Given the description of an element on the screen output the (x, y) to click on. 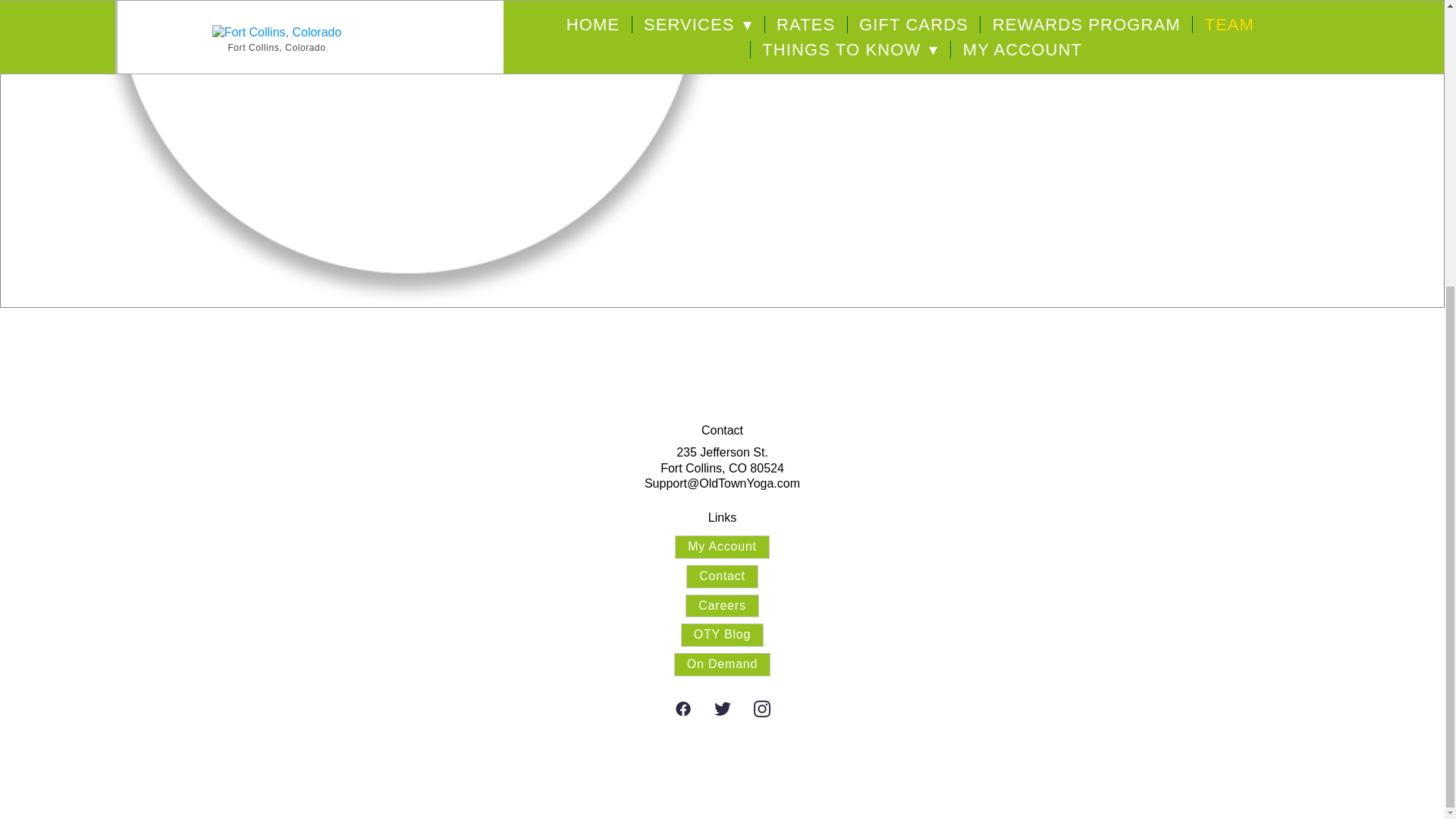
On Demand (722, 664)
Careers (721, 606)
Contact (721, 576)
OTY Blog (721, 635)
My Account (722, 546)
Created with SpaceCraft (721, 781)
